Given the description of an element on the screen output the (x, y) to click on. 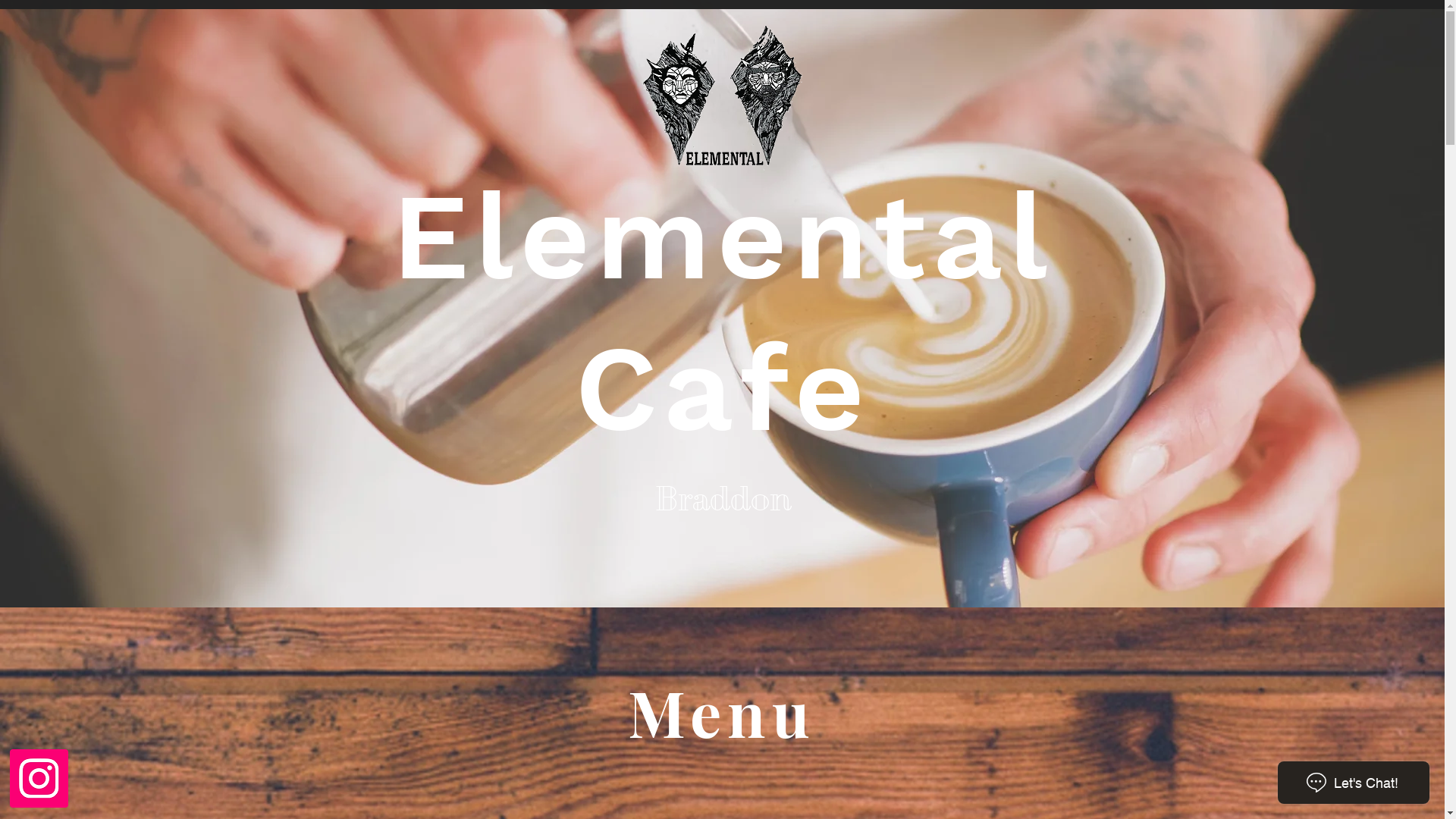
Elemental Logo No background.png Element type: hover (722, 97)
